Given the description of an element on the screen output the (x, y) to click on. 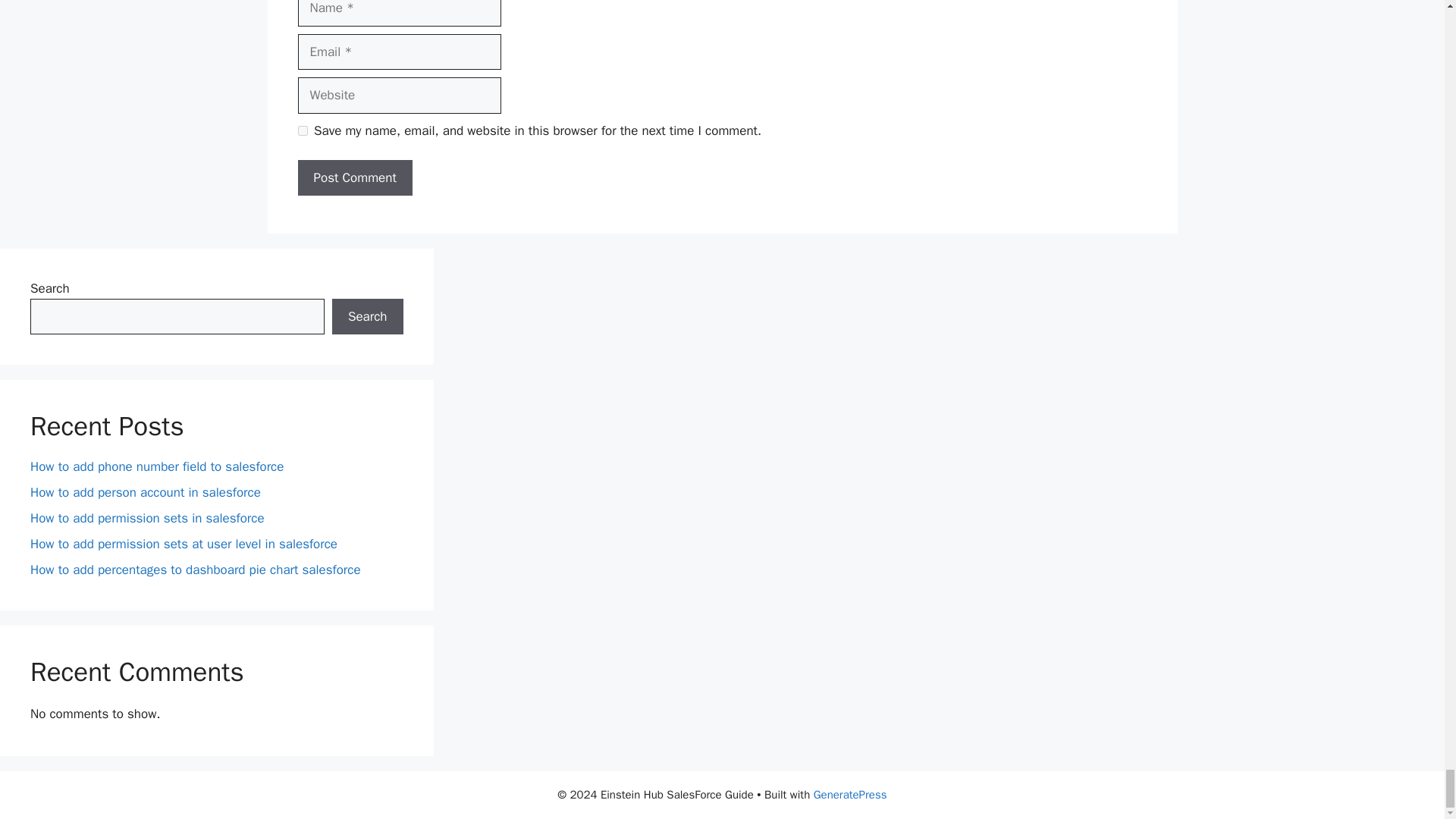
yes (302, 130)
Post Comment (354, 177)
